Given the description of an element on the screen output the (x, y) to click on. 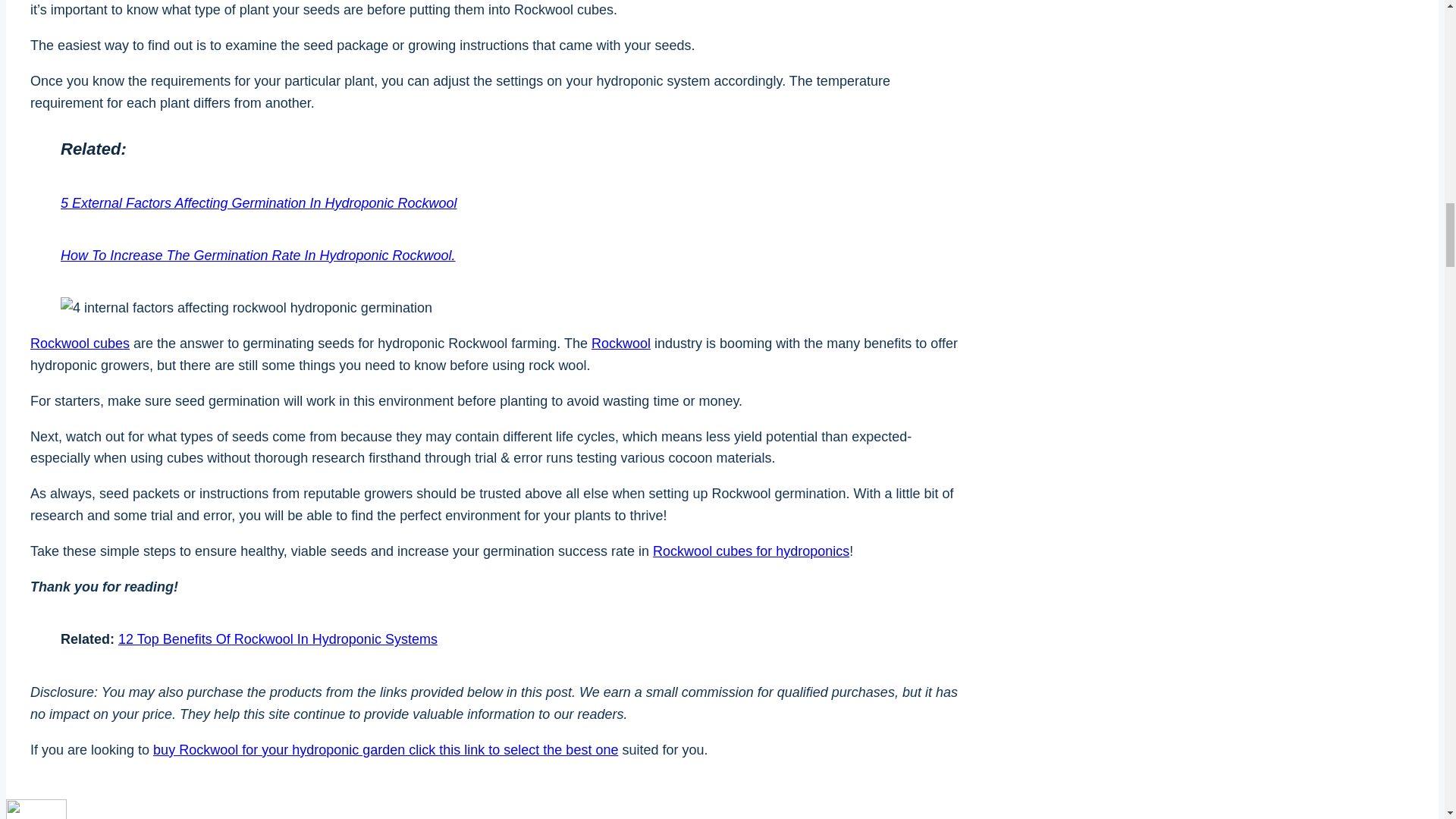
Hydroponic Sponge or Rockwool? (750, 550)
How to Choose the Right Size Rockwool for Hydroponics? (79, 343)
Hydroponic Rockwool Production: What Do You Need to Know (620, 343)
